Given the description of an element on the screen output the (x, y) to click on. 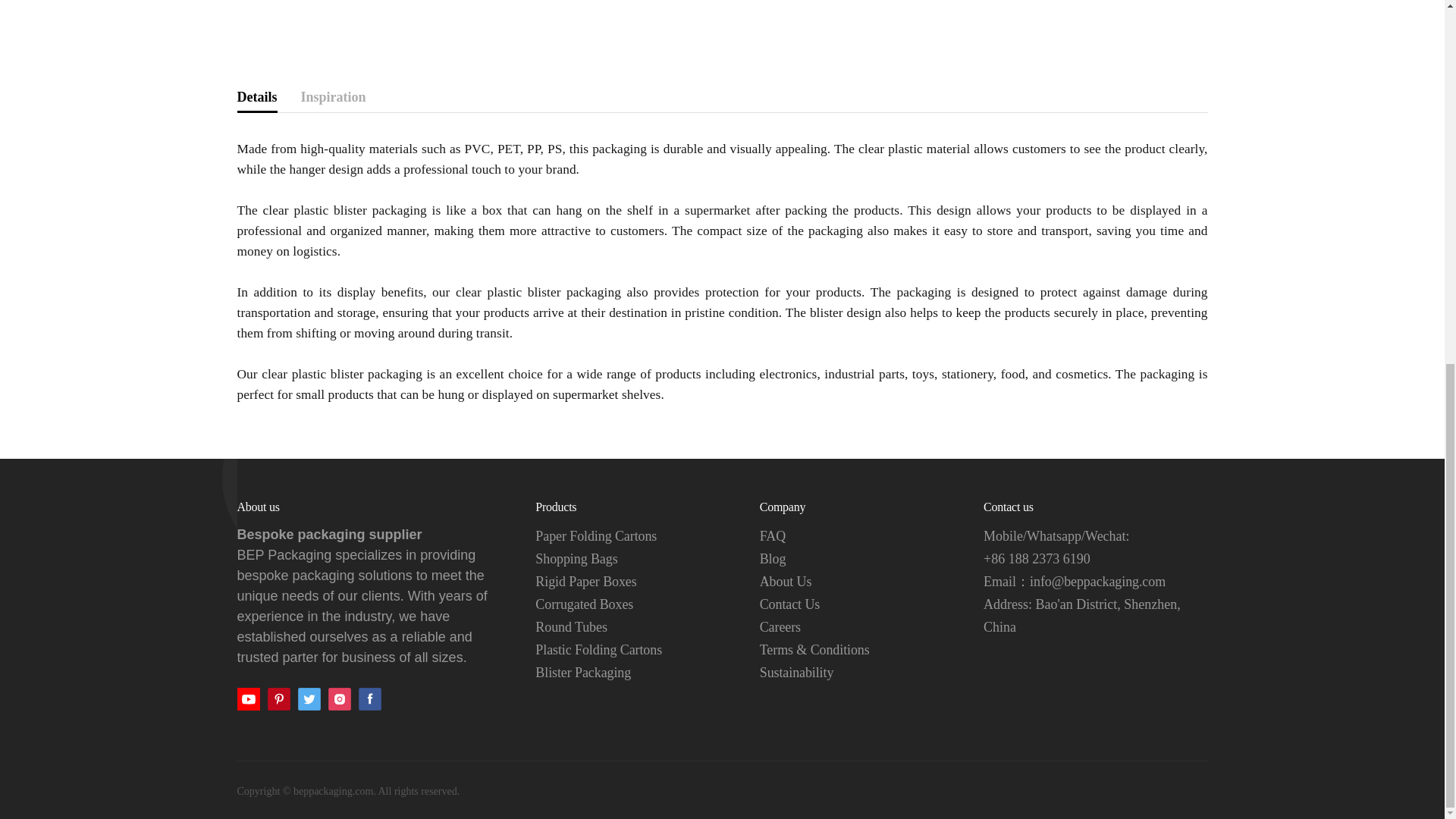
Details (255, 99)
Inspiration (332, 99)
Pinterest (277, 698)
Twitter (308, 698)
Instagram (338, 698)
Facebook (369, 698)
Youtube (247, 698)
